Given the description of an element on the screen output the (x, y) to click on. 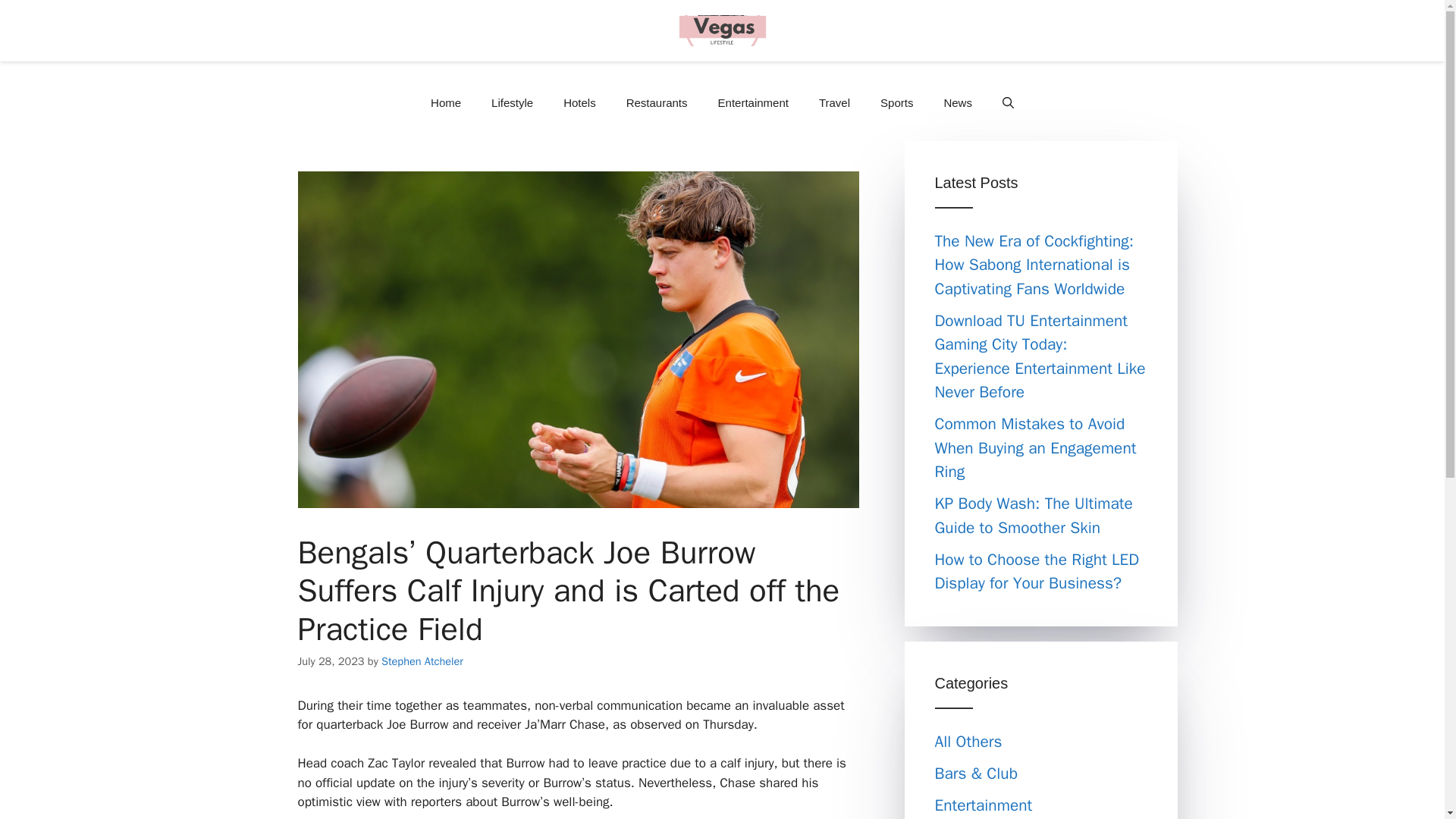
Travel (833, 103)
Hotels (579, 103)
All Others (967, 741)
Common Mistakes to Avoid When Buying an Engagement Ring (1034, 447)
View all posts by Stephen Atcheler (422, 661)
Entertainment (983, 804)
Sports (896, 103)
Stephen Atcheler (422, 661)
Entertainment (753, 103)
